Given the description of an element on the screen output the (x, y) to click on. 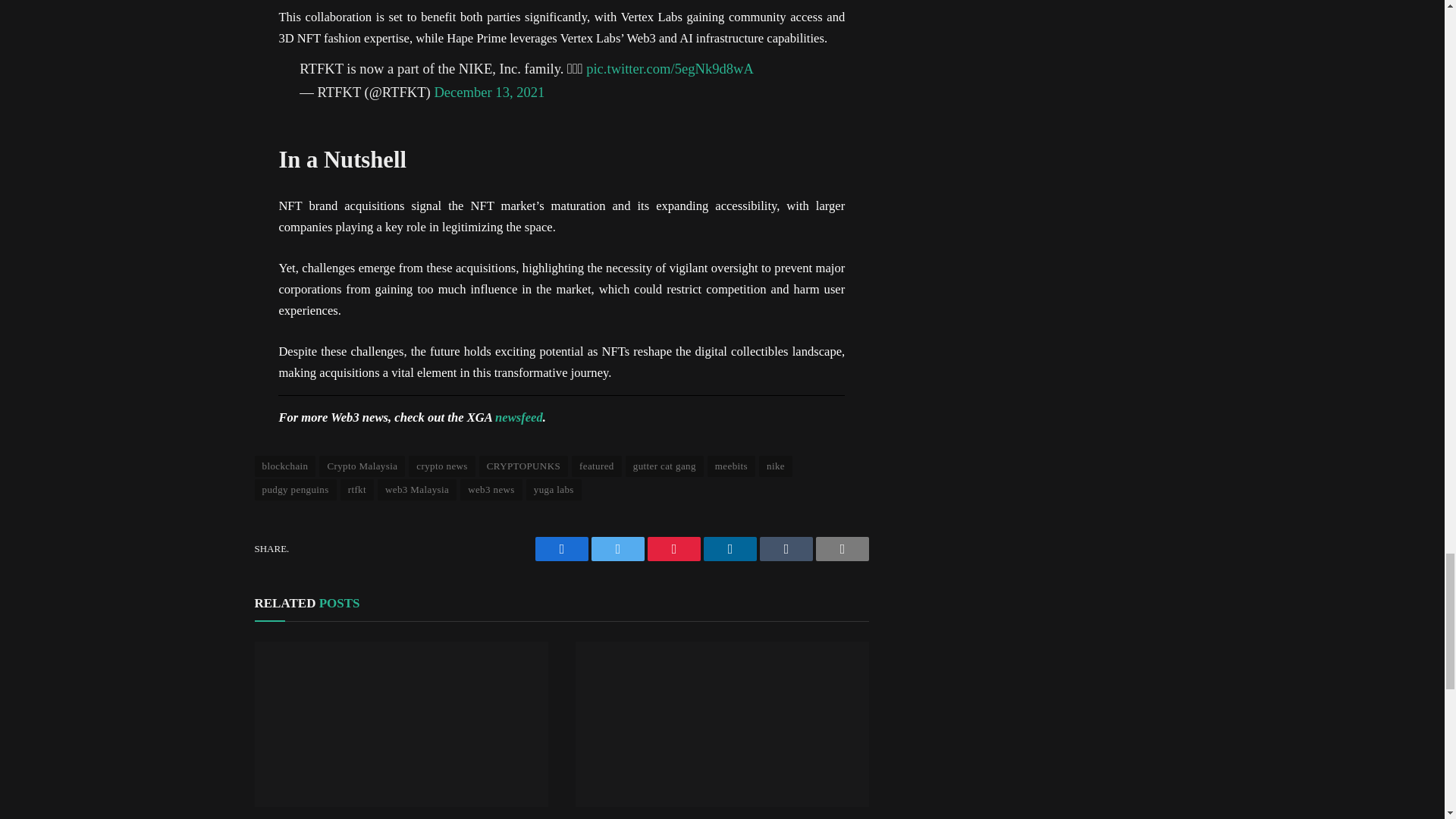
Share on Facebook (561, 549)
